Given the description of an element on the screen output the (x, y) to click on. 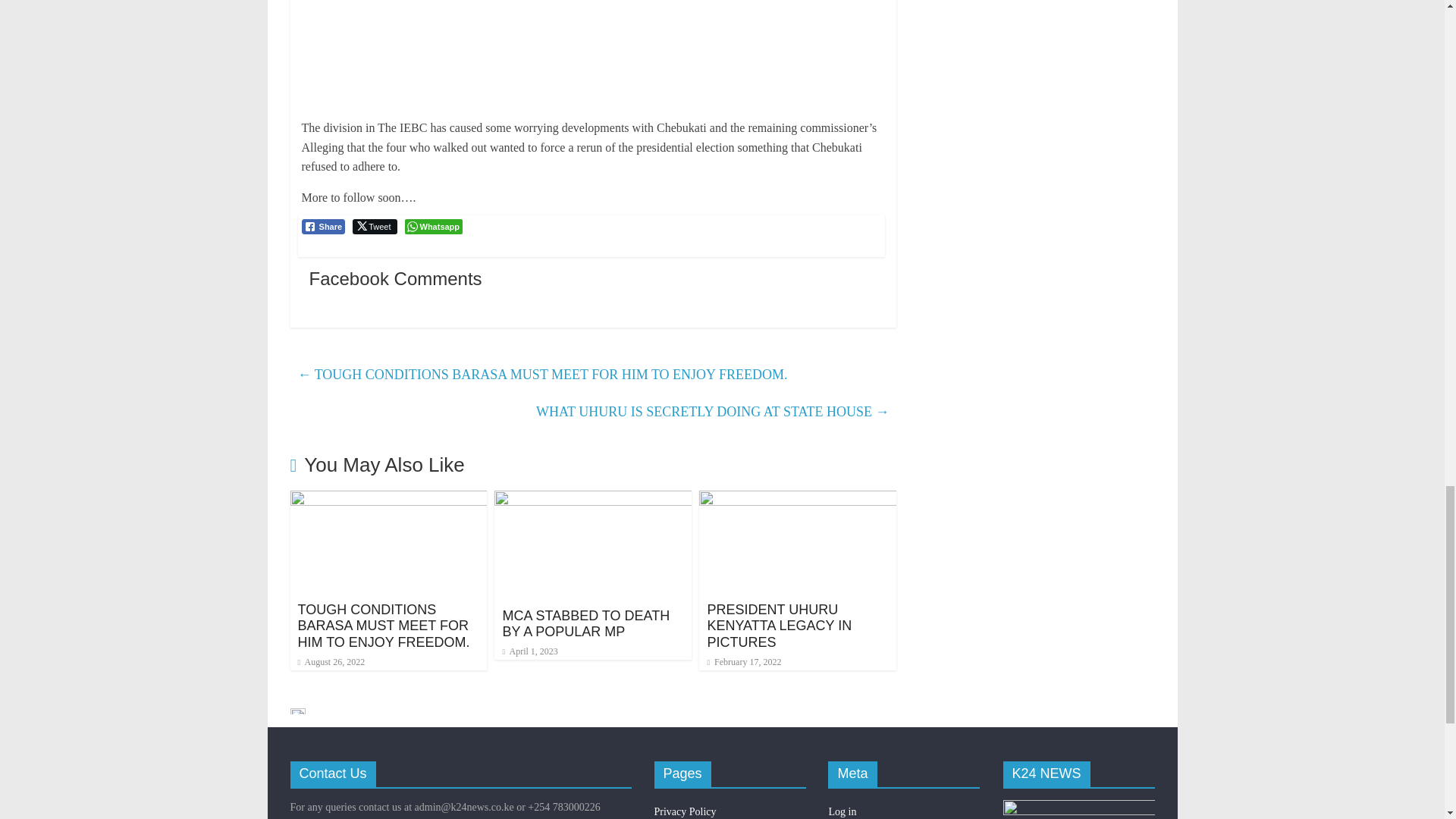
MCA STABBED TO DEATH BY A POPULAR MP (585, 623)
Share (323, 226)
TOUGH CONDITIONS BARASA MUST MEET FOR HIM TO ENJOY FREEDOM. (382, 625)
Whatsapp (433, 226)
Tweet (374, 226)
August 26, 2022 (331, 661)
TOUGH CONDITIONS BARASA MUST MEET FOR HIM TO ENJOY FREEDOM. (387, 499)
